Given the description of an element on the screen output the (x, y) to click on. 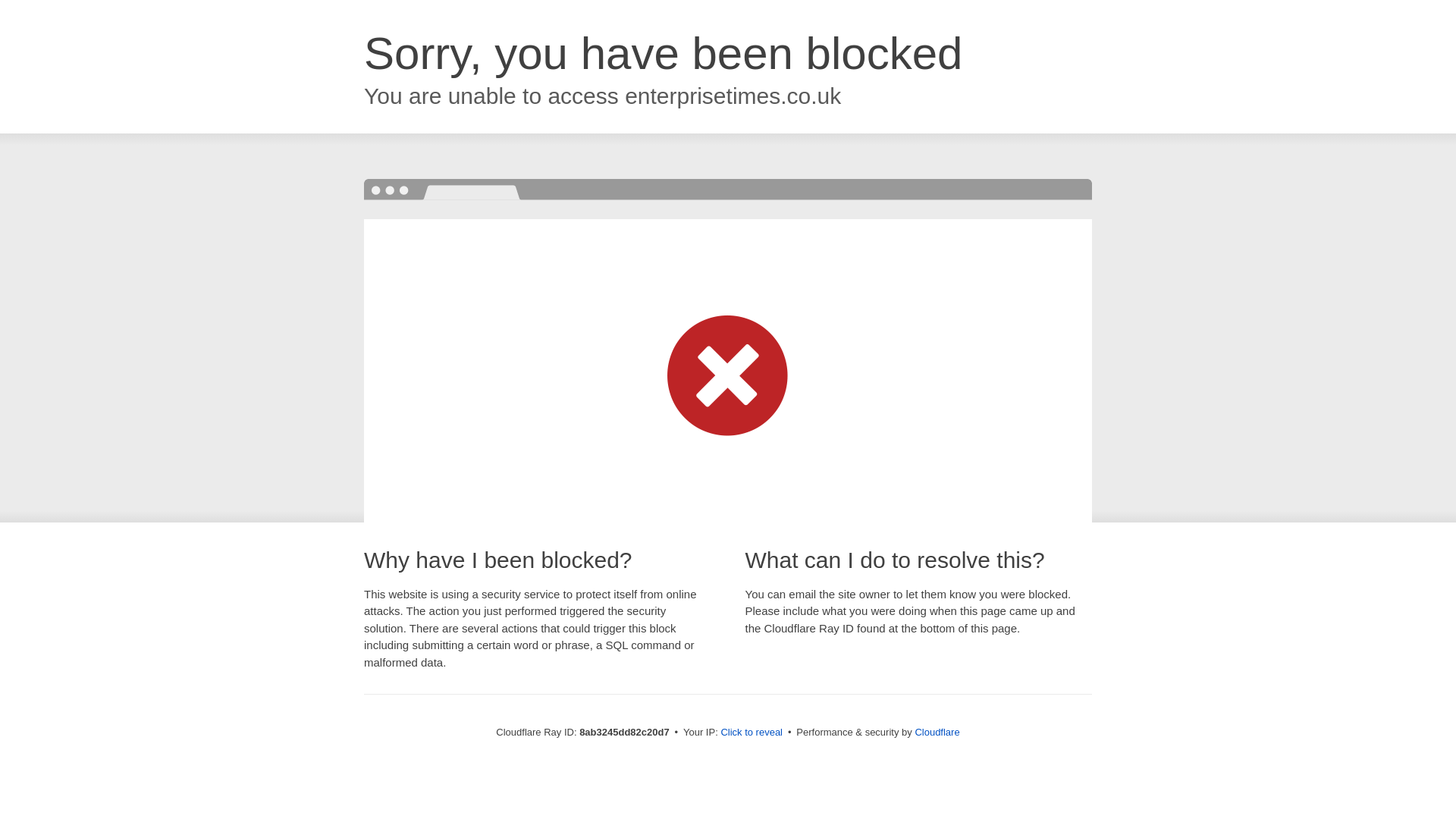
Cloudflare (936, 731)
Click to reveal (751, 732)
